Given the description of an element on the screen output the (x, y) to click on. 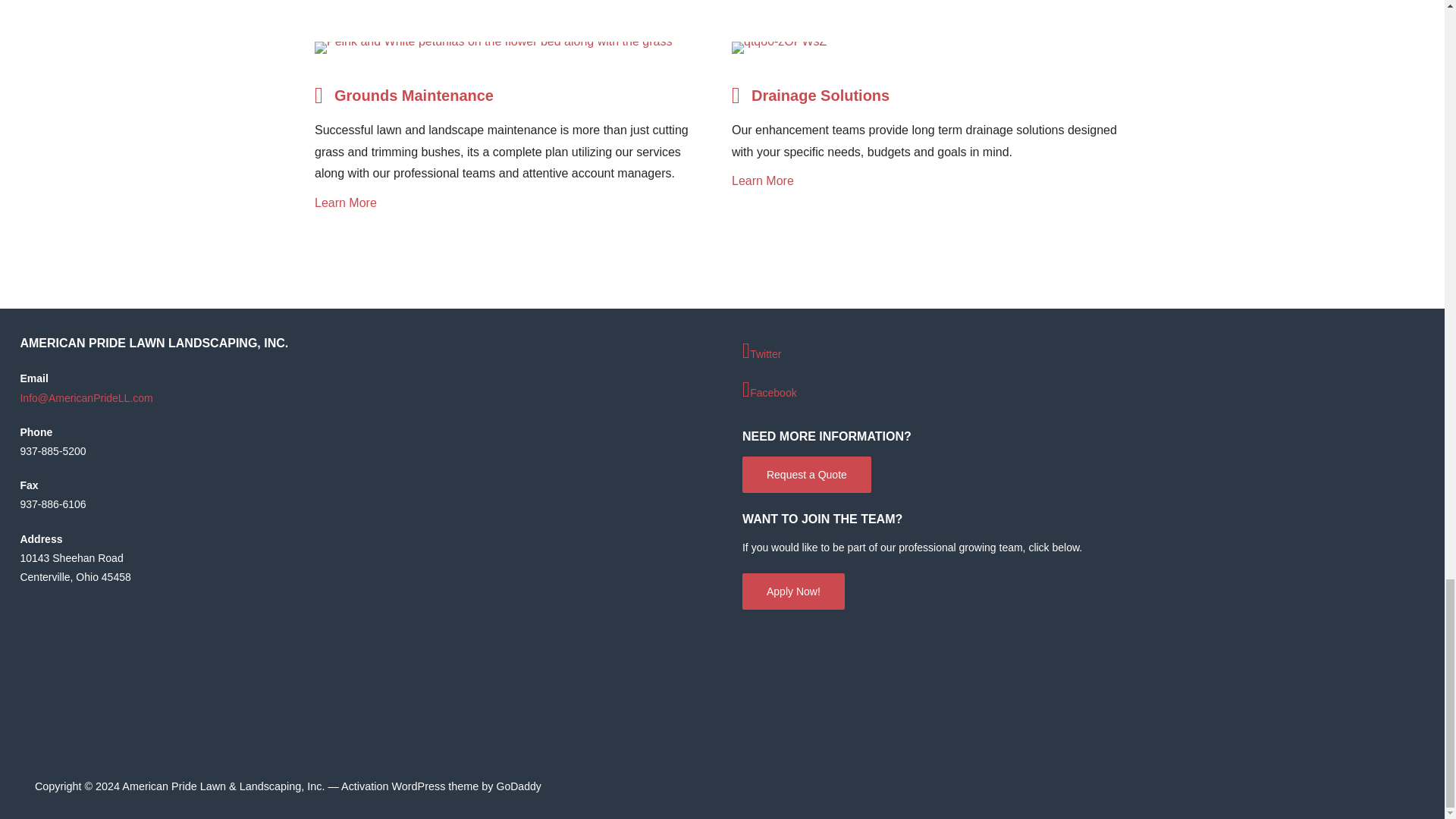
Pink and White Petunias (492, 47)
Learn More (507, 203)
Drainage Solutions (810, 101)
Grounds Maintenance (403, 101)
qtq80-zOPWsZ (779, 47)
